Given the description of an element on the screen output the (x, y) to click on. 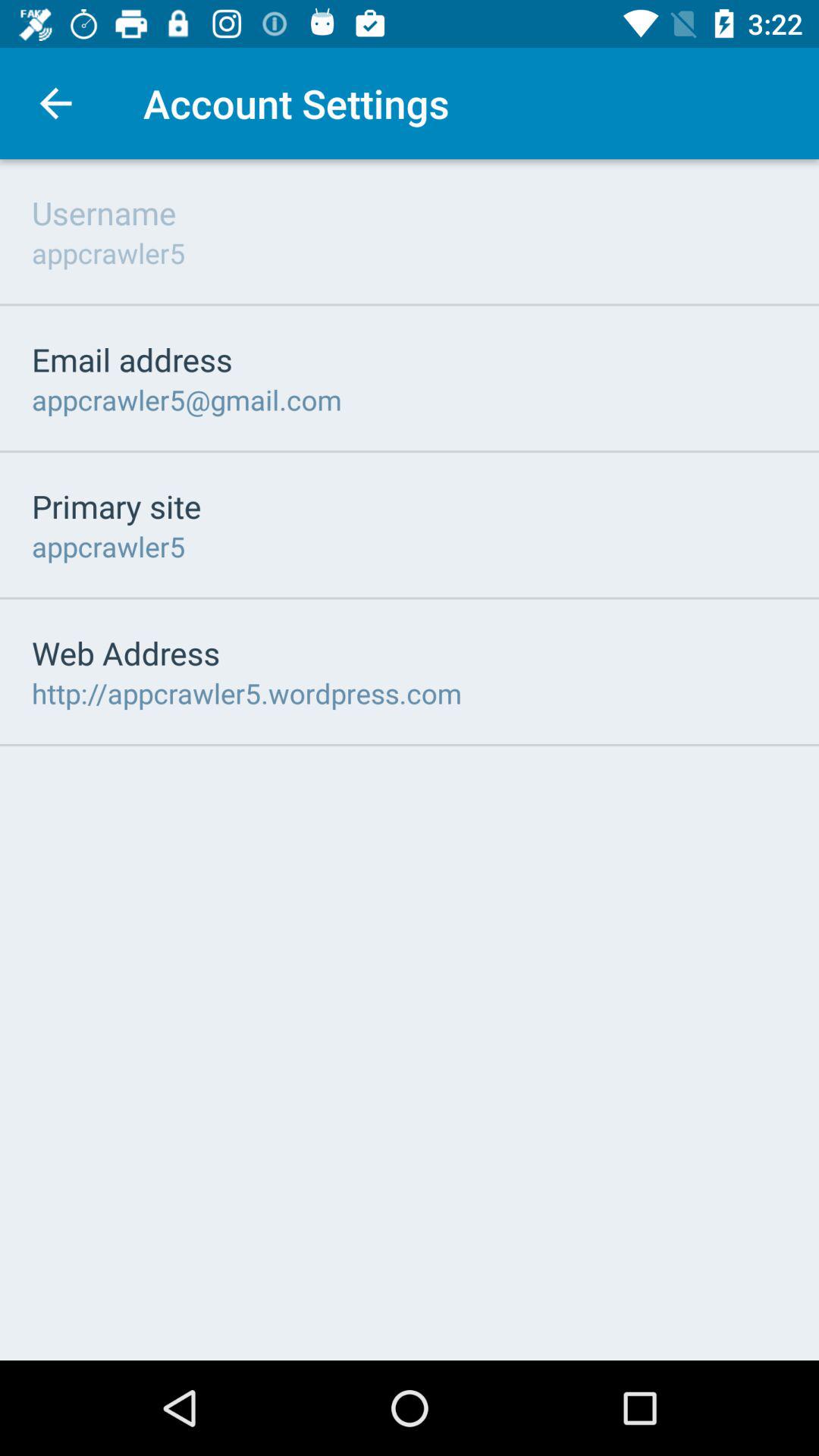
press the primary site (116, 505)
